Given the description of an element on the screen output the (x, y) to click on. 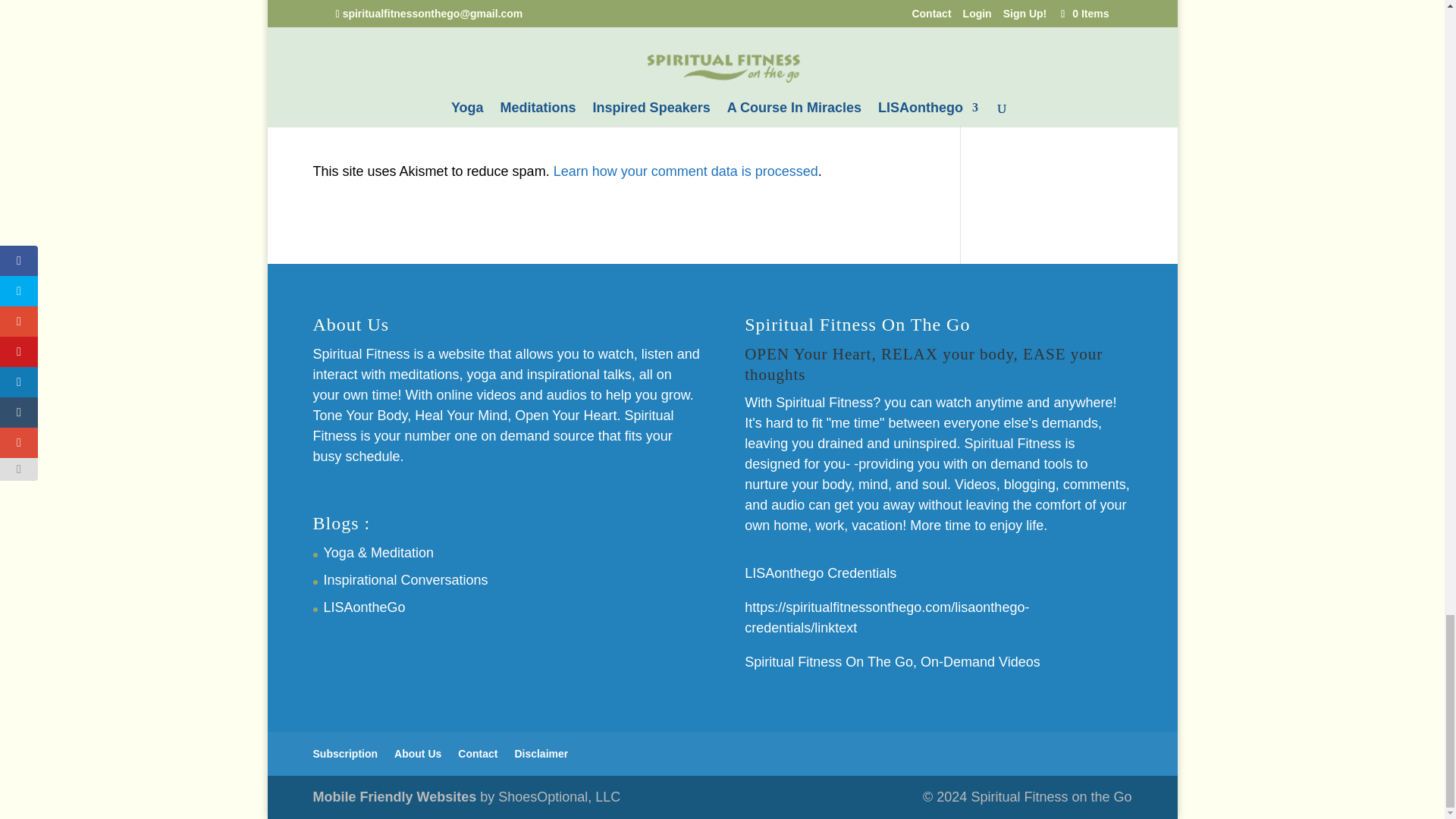
Submit Comment (840, 90)
Learn how your comment data is processed (685, 171)
Submit Comment (840, 90)
